Given the description of an element on the screen output the (x, y) to click on. 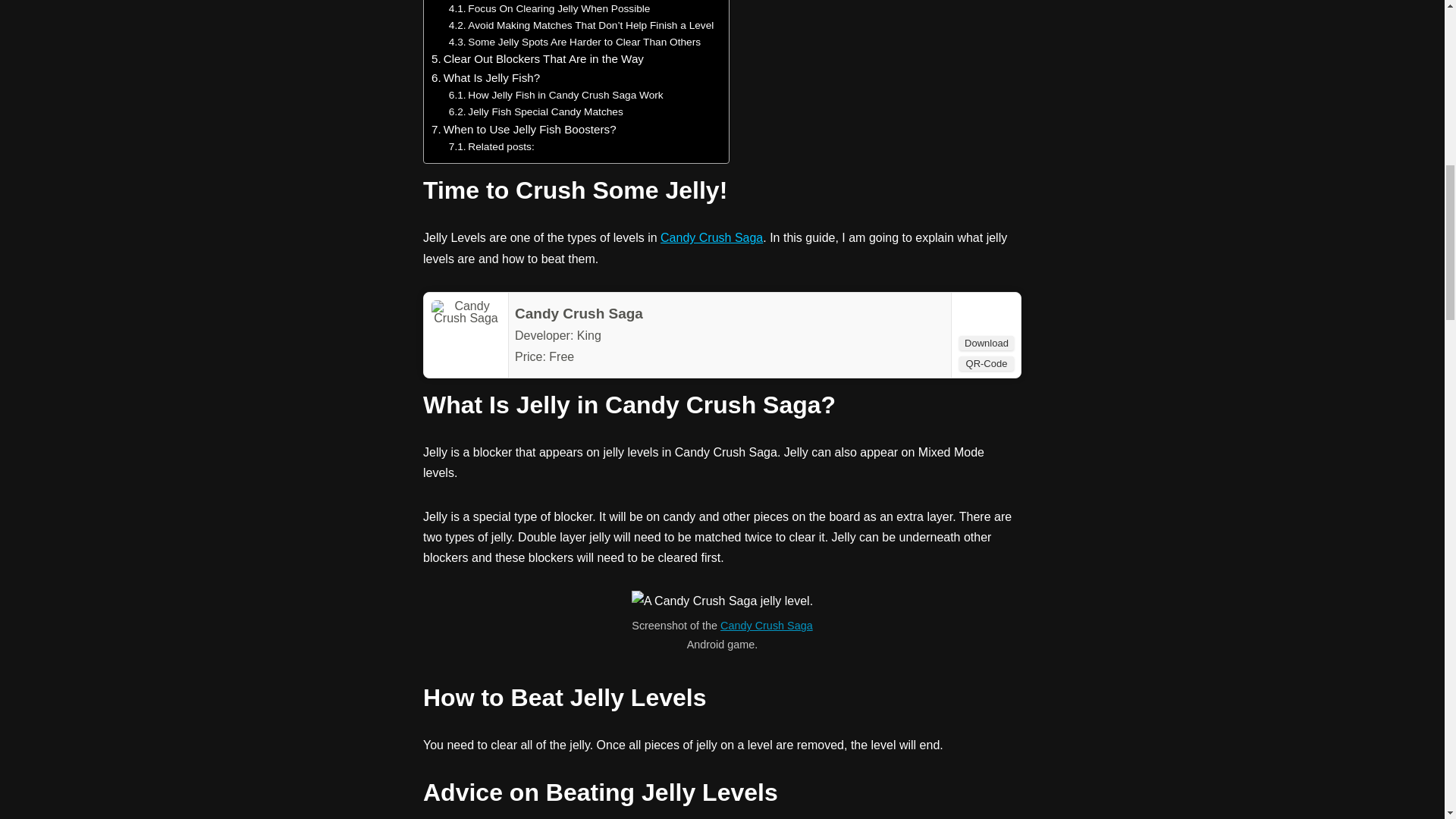
Candy Crush Saga (711, 237)
King (588, 335)
Download (986, 342)
Focus On Clearing Jelly When Possible (549, 8)
Focus On Clearing Jelly When Possible (549, 8)
How Jelly Fish in Candy Crush Saga Work (555, 95)
When to Use Jelly Fish Boosters? (522, 129)
What Is Jelly Fish? (485, 77)
Jelly Fish Special Candy Matches (535, 112)
Candy Crush Saga (579, 313)
Some Jelly Spots Are Harder to Clear Than Others (574, 41)
Related posts: (491, 146)
How Jelly Fish in Candy Crush Saga Work (555, 95)
Clear Out Blockers That Are in the Way (536, 58)
What Is Jelly Fish? (485, 77)
